Given the description of an element on the screen output the (x, y) to click on. 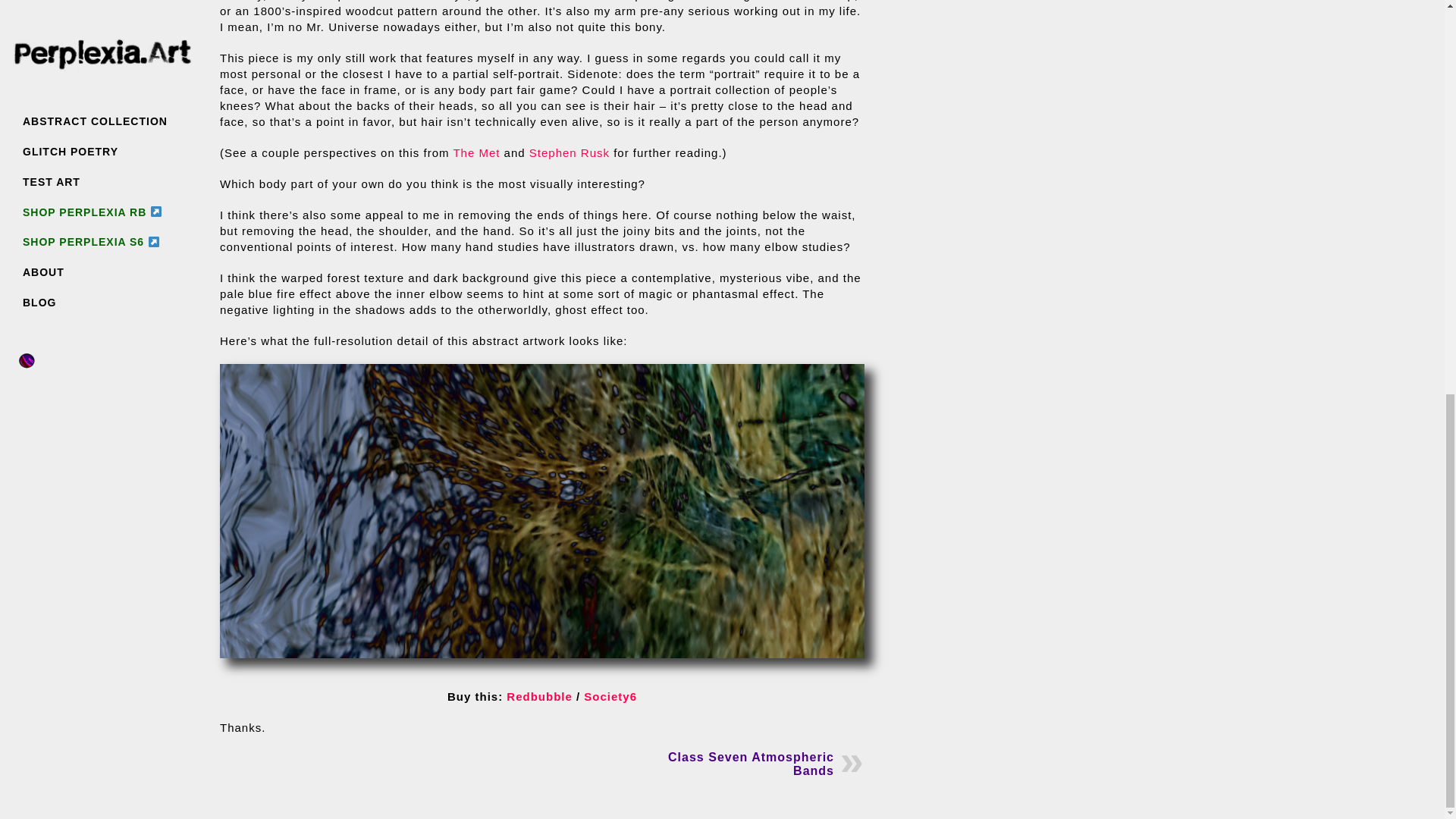
Class Seven Atmospheric Bands (751, 764)
Stephen Rusk (569, 152)
The Met (475, 152)
Society6 (610, 696)
Redbubble (539, 696)
